Given the description of an element on the screen output the (x, y) to click on. 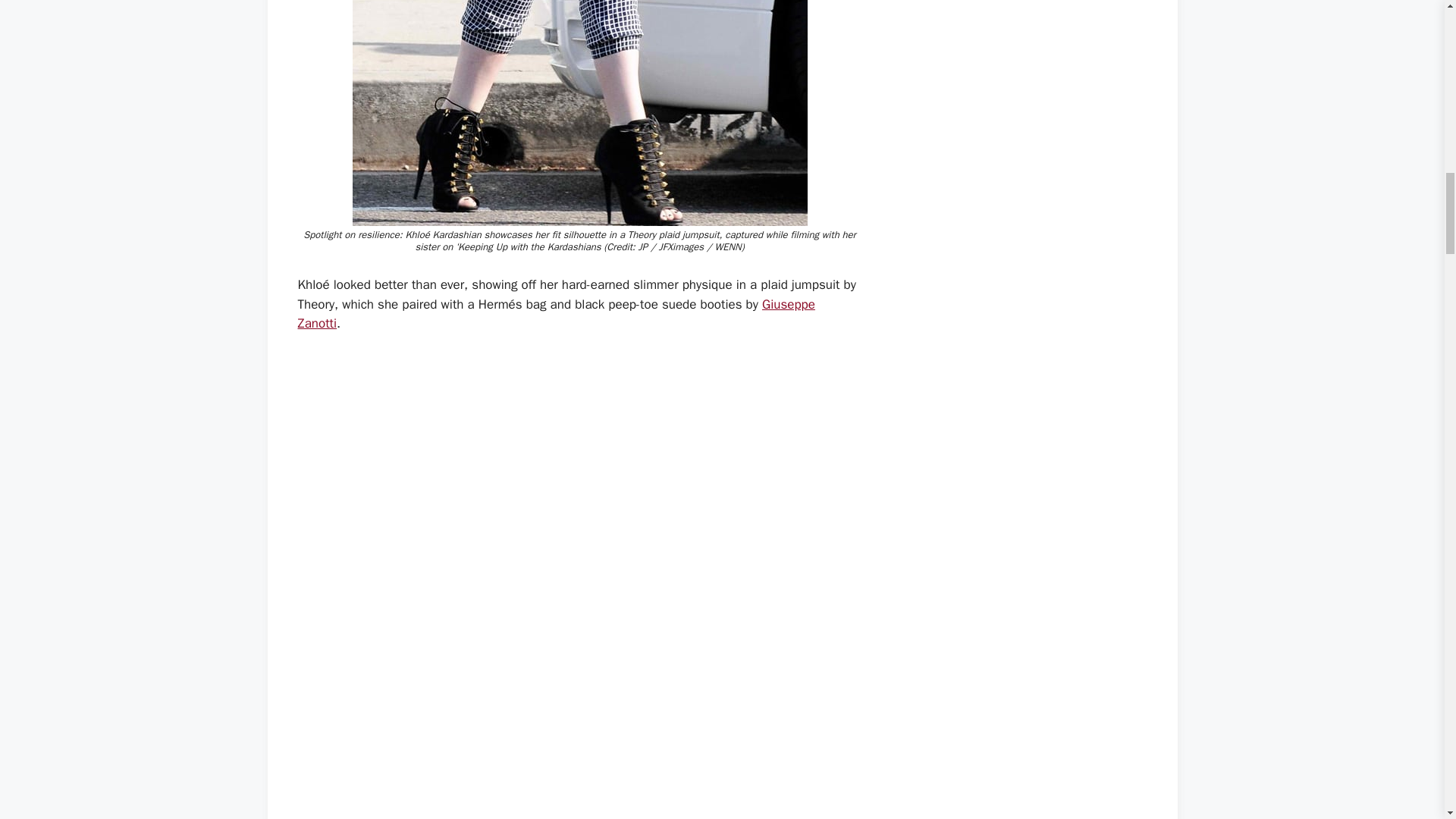
Giuseppe Zanotti (555, 314)
